Given the description of an element on the screen output the (x, y) to click on. 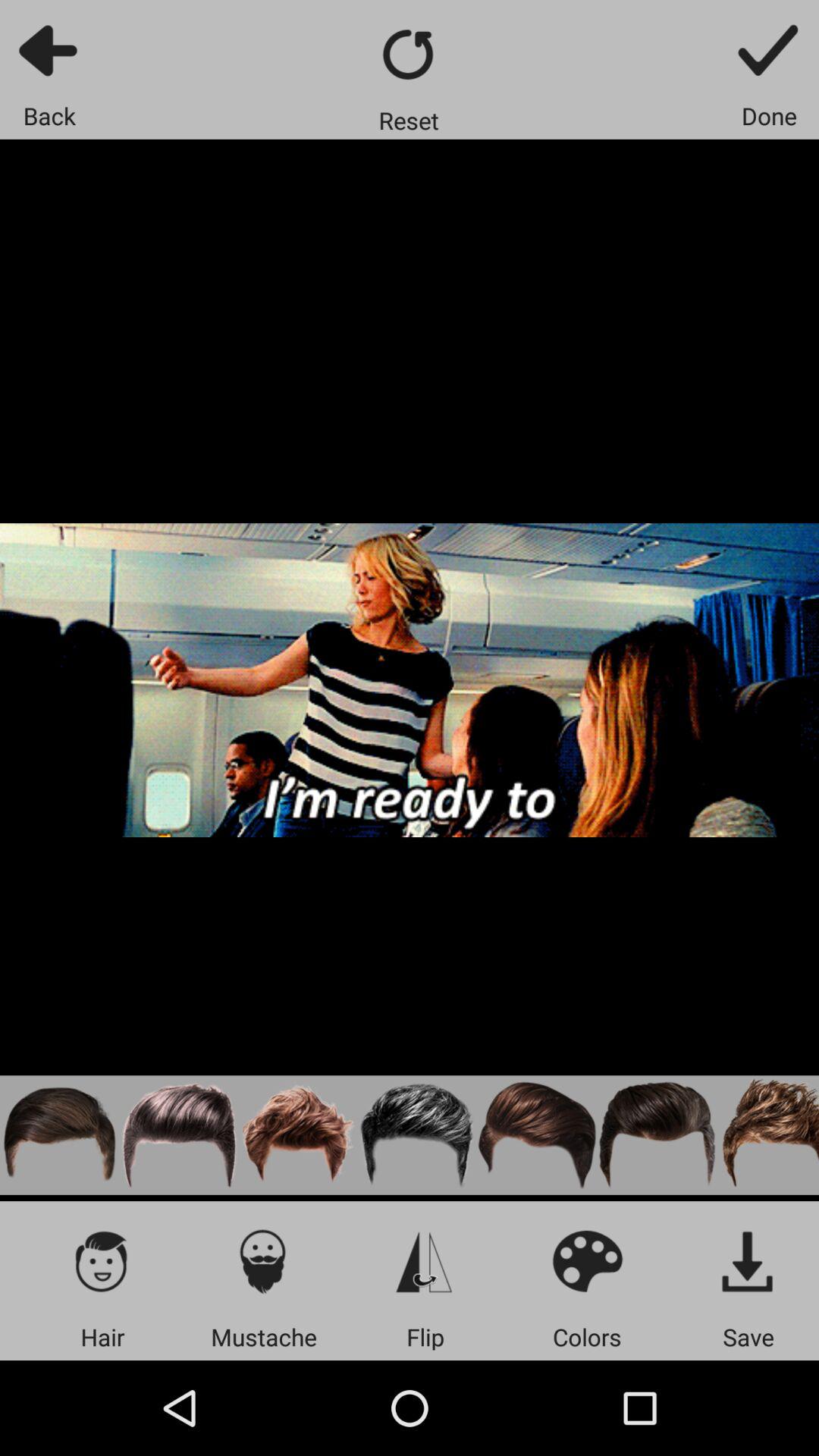
go to previous (49, 49)
